Given the description of an element on the screen output the (x, y) to click on. 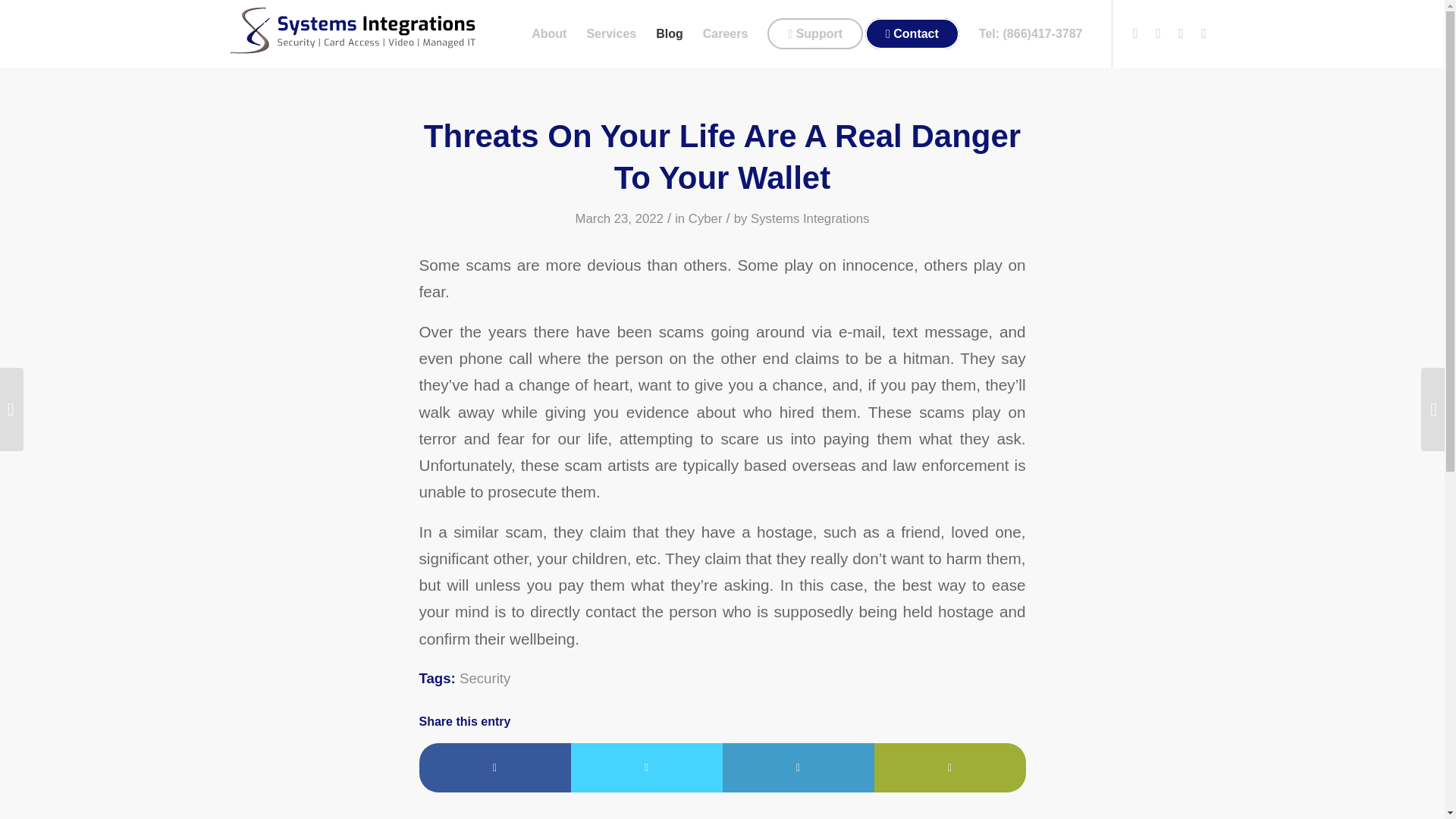
Contact (916, 33)
Systems Integrations (810, 218)
Services (611, 33)
Careers (725, 33)
Security (485, 678)
Services (611, 33)
Cyber (705, 218)
Support (814, 33)
